Given the description of an element on the screen output the (x, y) to click on. 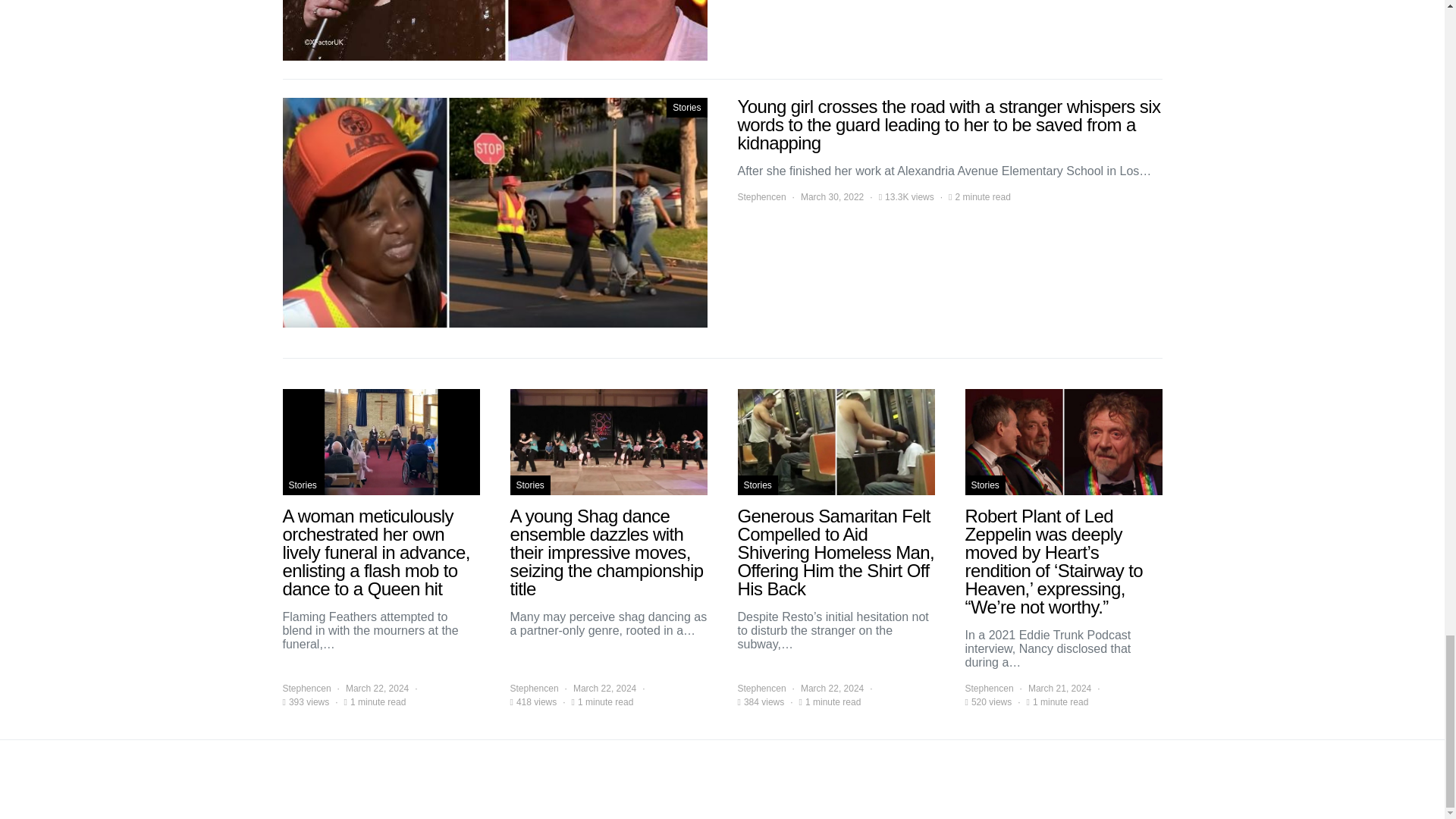
View all posts by Stephencen (533, 688)
Stories (686, 107)
Stephencen (761, 196)
Stephencen (306, 688)
Stories (529, 485)
Stories (301, 485)
View all posts by Stephencen (306, 688)
View all posts by Stephencen (761, 196)
